Given the description of an element on the screen output the (x, y) to click on. 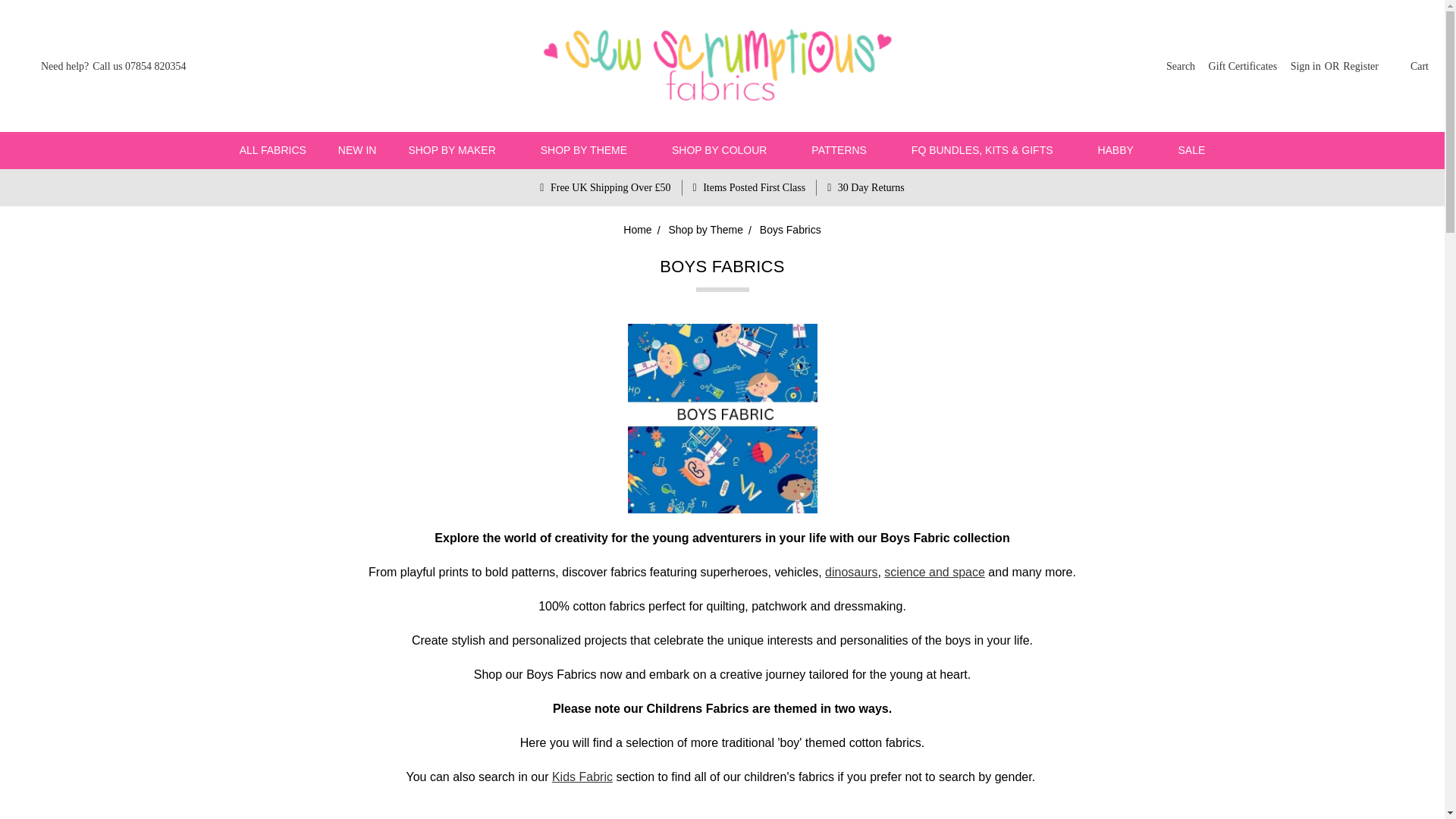
NEW IN (357, 149)
Sew Scrumptious Fabrics (722, 65)
Sign in (1305, 65)
ALL FABRICS (272, 149)
Search (1179, 65)
Need help?Call us 07854 820354 (104, 65)
SHOP BY MAKER (457, 149)
Cart (1407, 65)
Gift Certificates (1243, 65)
Register (1361, 65)
